Given the description of an element on the screen output the (x, y) to click on. 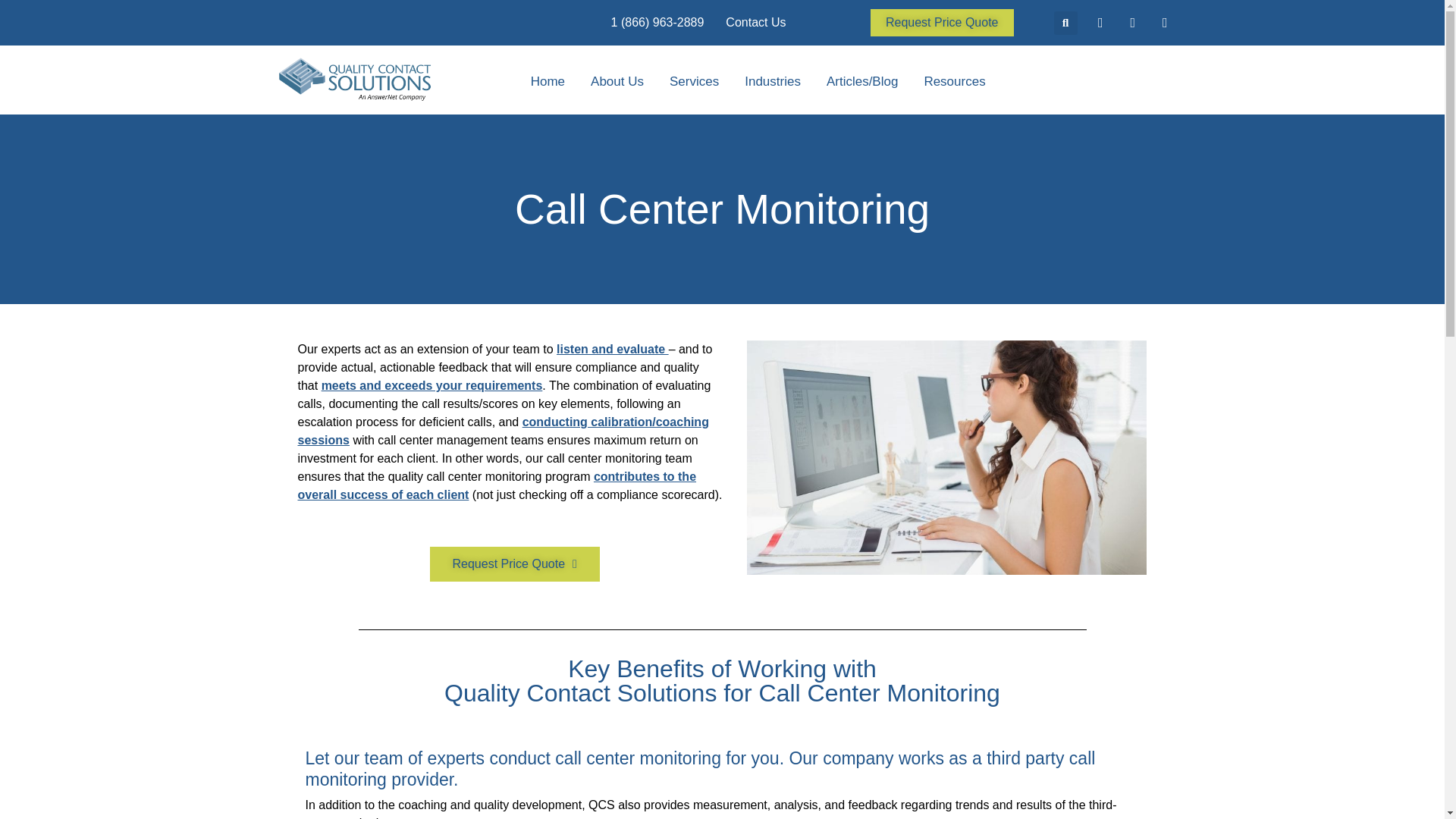
Services (694, 81)
Industries (772, 81)
Request Price Quote (941, 22)
Contact Us (755, 22)
Home (547, 81)
About Us (617, 81)
